Given the description of an element on the screen output the (x, y) to click on. 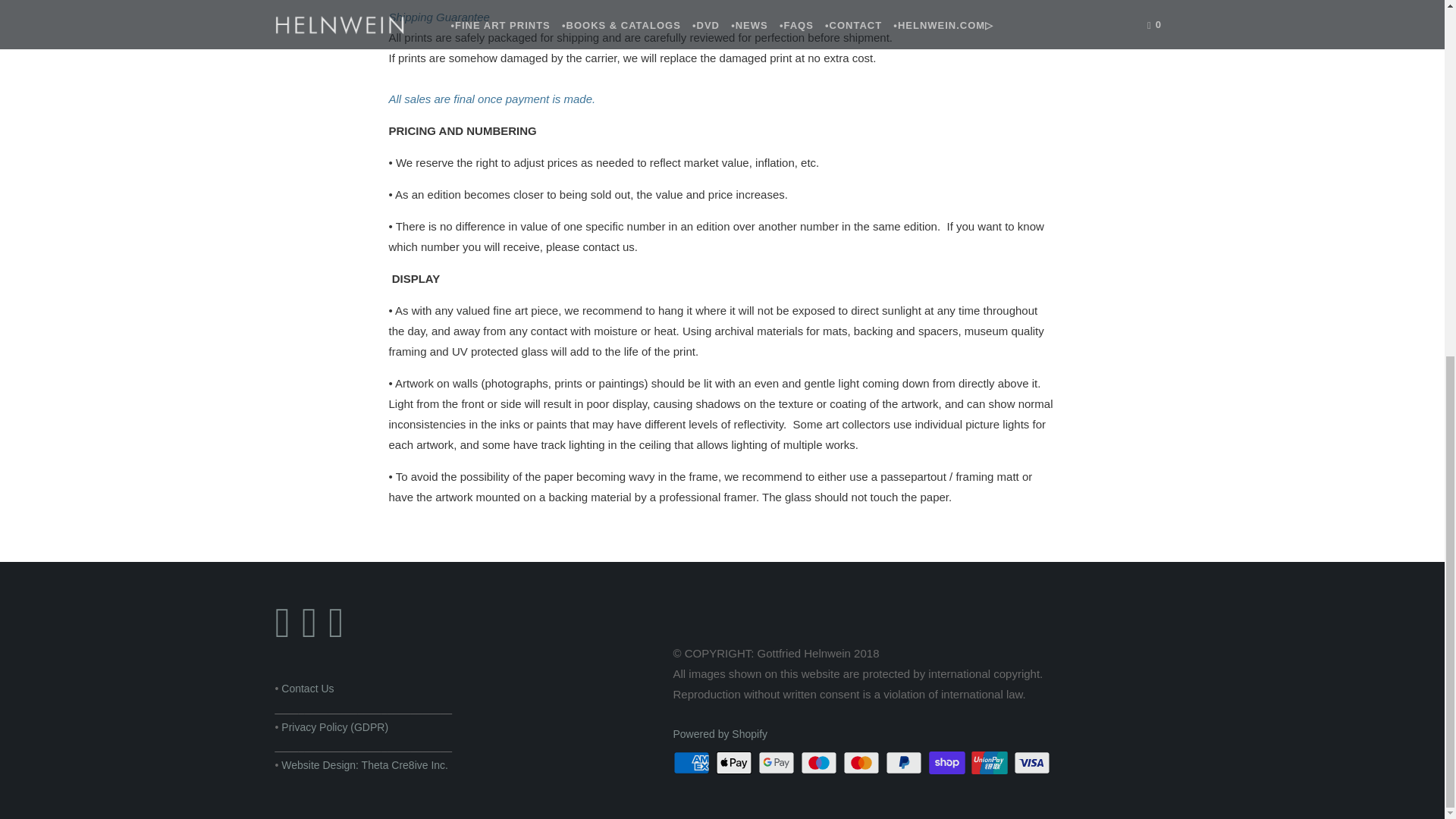
Contact (307, 688)
Website Design: Theta Cre8ive Inc. (364, 765)
Contact Us (307, 688)
Privacy Policy (334, 727)
Powered by Shopify (720, 734)
